Given the description of an element on the screen output the (x, y) to click on. 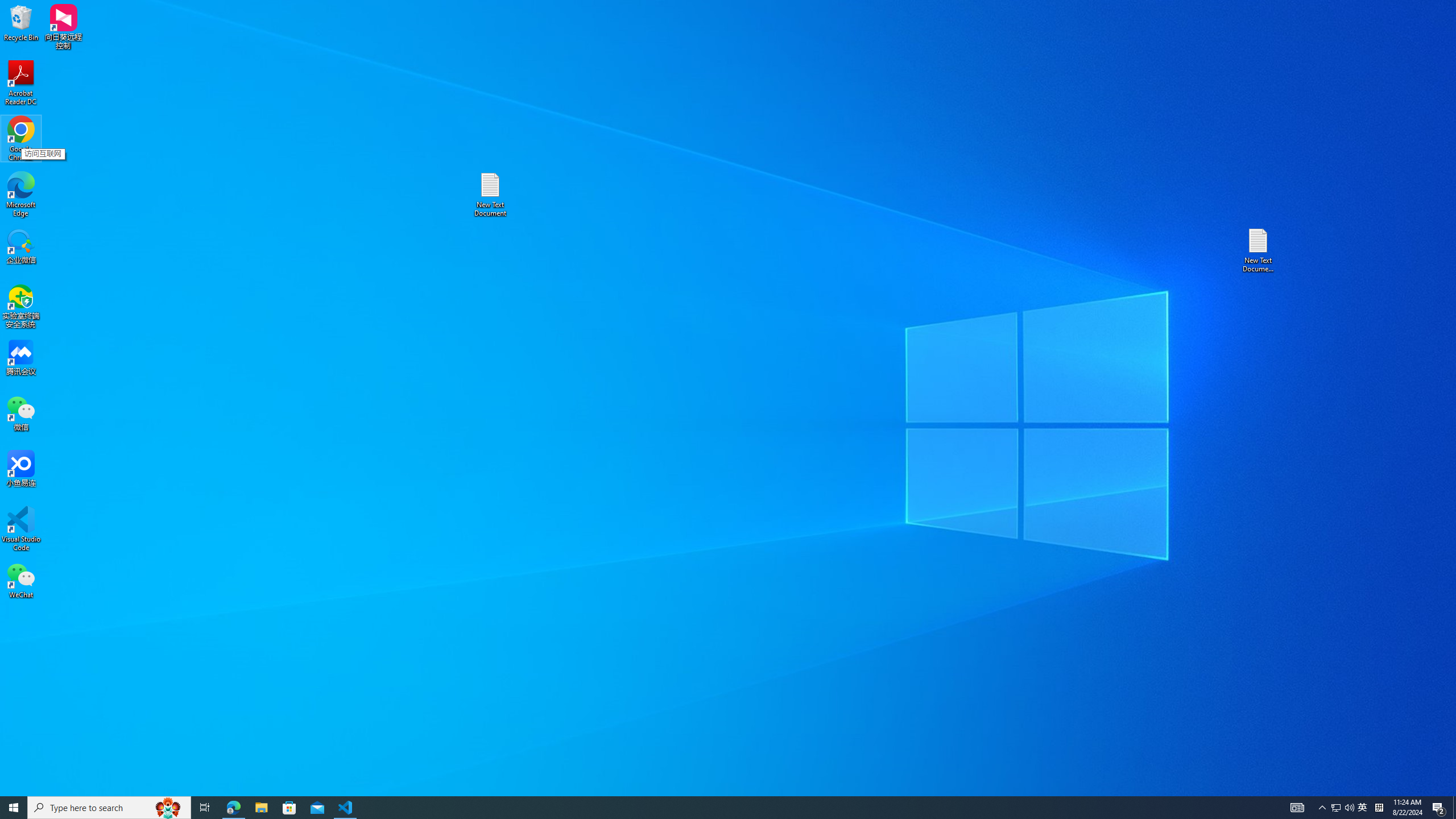
WeChat (21, 580)
Tray Input Indicator - Chinese (Simplified, China) (1378, 807)
Recycle Bin (21, 22)
Google Chrome (21, 138)
User Promoted Notification Area (1342, 807)
Acrobat Reader DC (21, 82)
Action Center, 2 new notifications (1439, 807)
Visual Studio Code - 1 running window (345, 807)
Search highlights icon opens search home window (167, 807)
Start (13, 807)
Microsoft Store (289, 807)
